Given the description of an element on the screen output the (x, y) to click on. 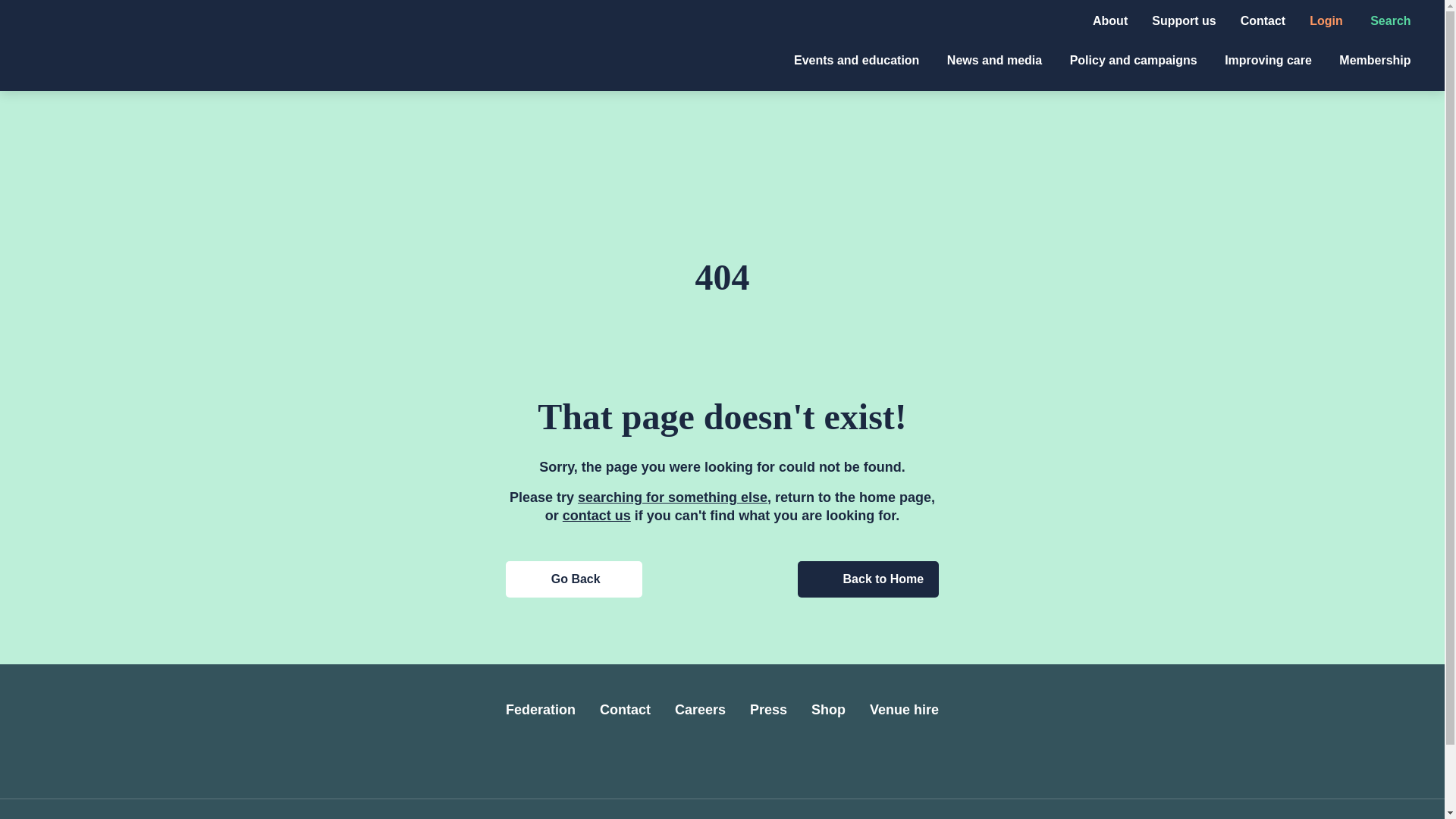
News and media (996, 60)
Policy and campaigns (1135, 60)
Contact (1262, 20)
About (1109, 20)
Support us (1183, 20)
Contact us (596, 515)
Login (1326, 20)
Improving care (1269, 60)
